Given the description of an element on the screen output the (x, y) to click on. 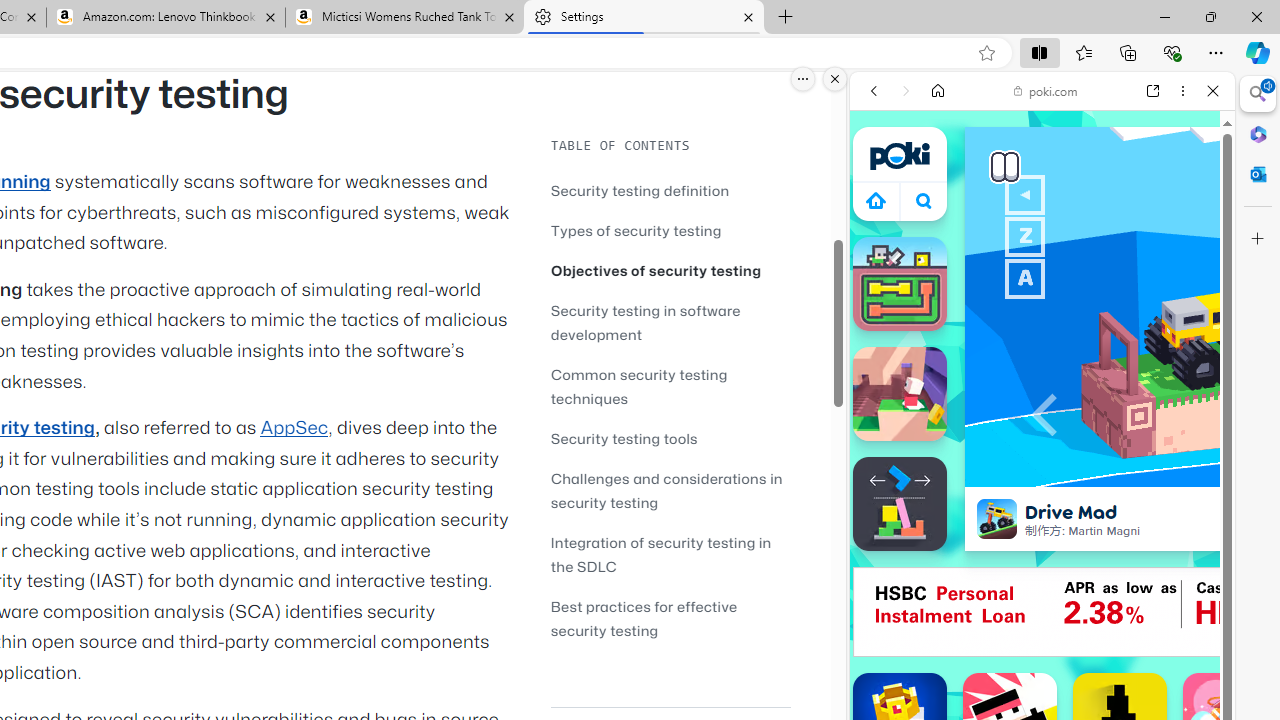
Integration of security testing in the SDLC (670, 553)
Security testing tools (623, 438)
AppSec (293, 428)
Sports Games (1042, 666)
Class: hvLtMSipvVng82x9Seuh (997, 519)
Stacktris (899, 503)
Wall of Doom (899, 393)
